Given the description of an element on the screen output the (x, y) to click on. 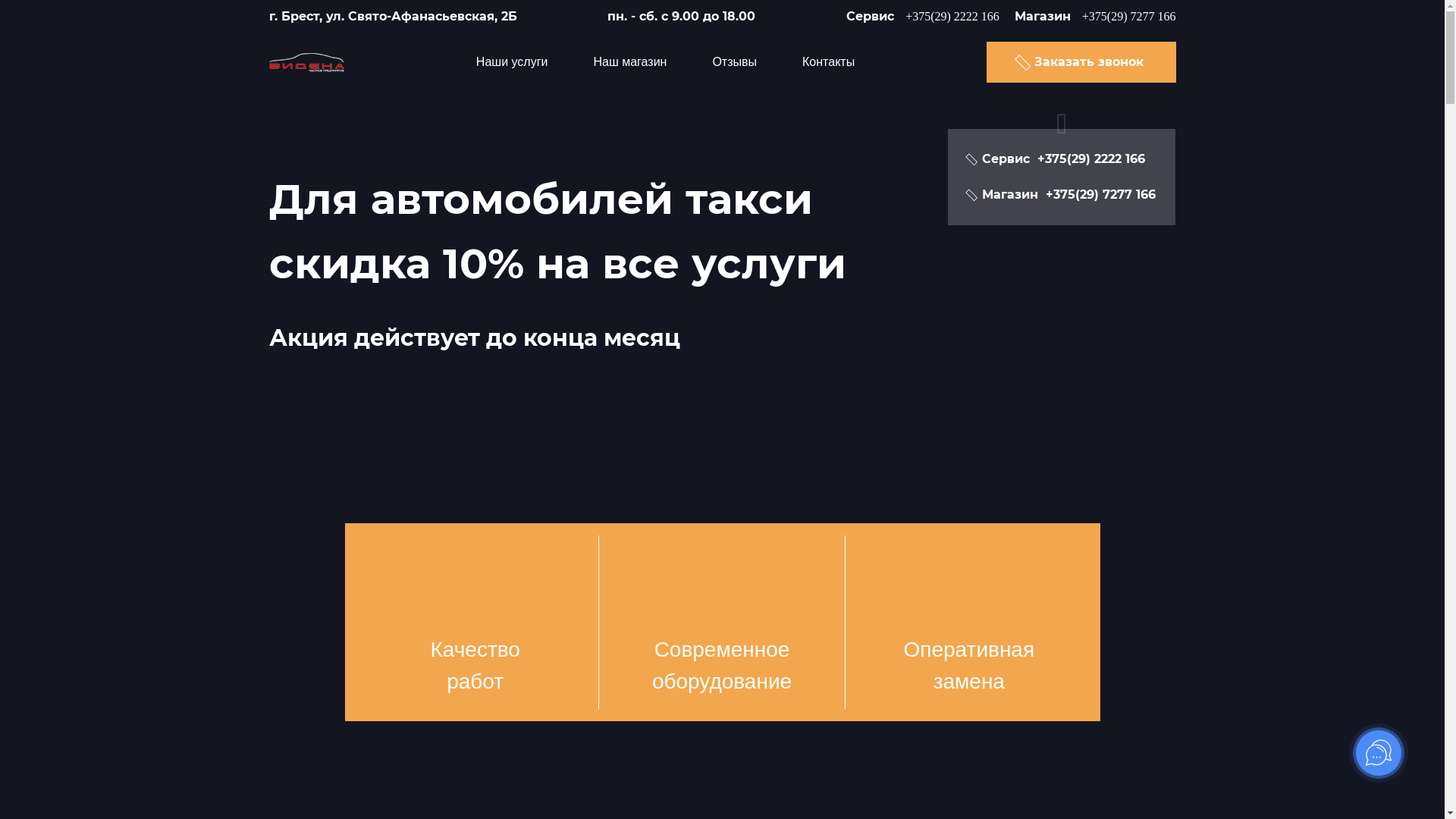
+375(29) 7277 166 Element type: text (1100, 194)
+375(29) 2222 166 Element type: text (1091, 159)
+375(29) 2222 166 Element type: text (952, 16)
+375(29) 7277 166 Element type: text (1129, 16)
